Given the description of an element on the screen output the (x, y) to click on. 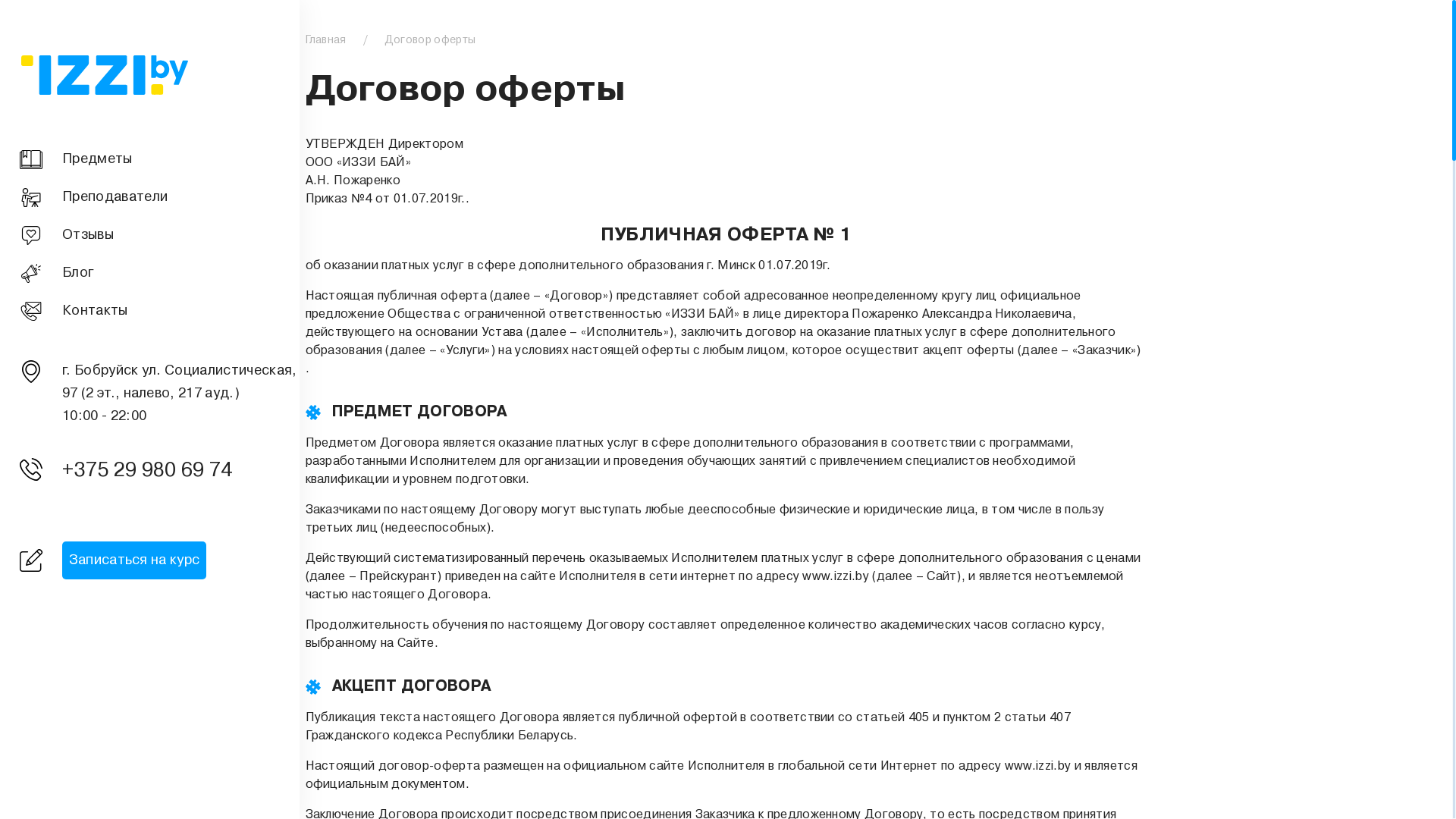
+375 29 980 69 74 Element type: text (153, 471)
